Given the description of an element on the screen output the (x, y) to click on. 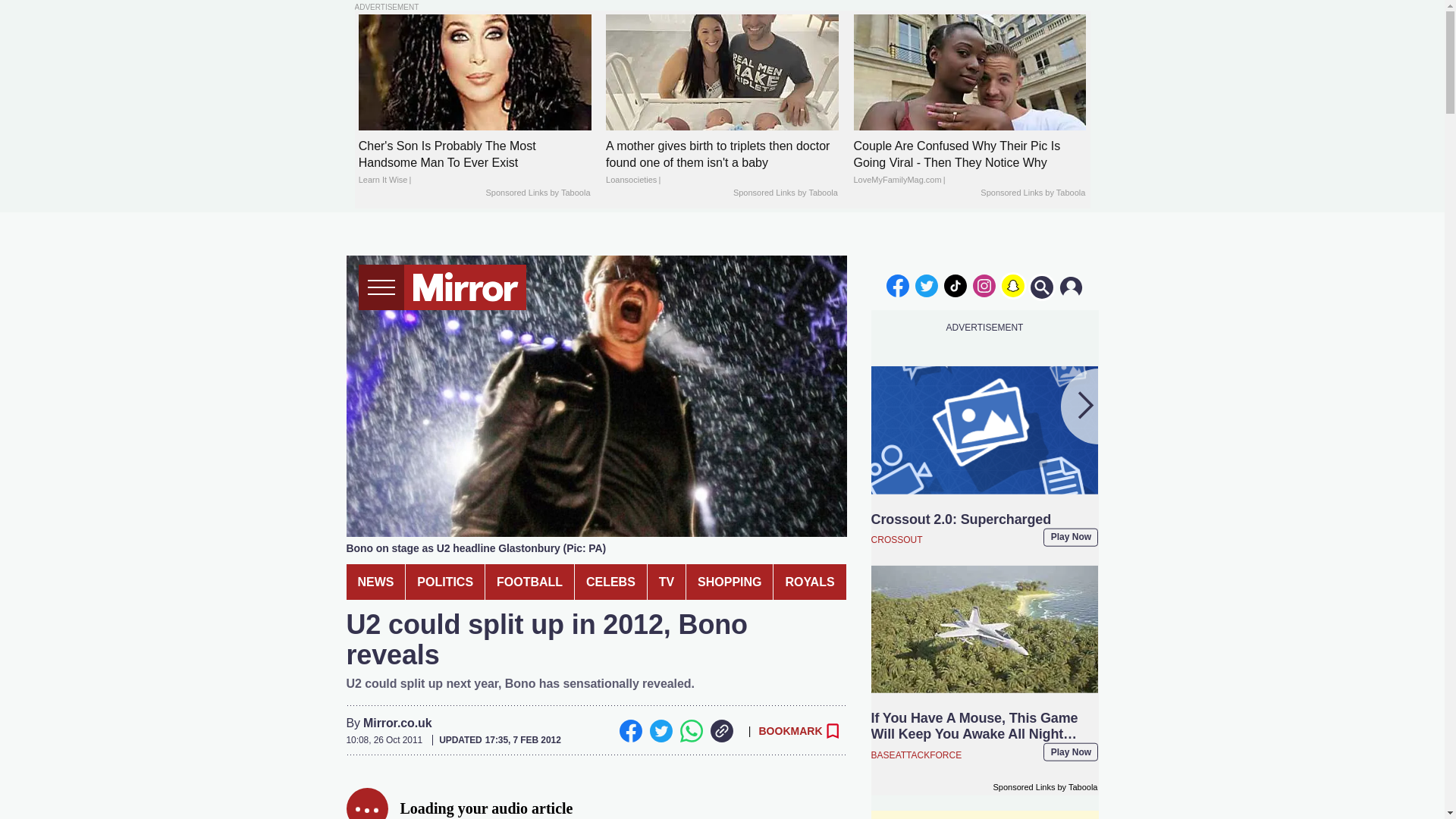
Sponsored Links by Taboola (1031, 193)
Sponsored Links by Taboola (536, 193)
Sponsored Links by Taboola (785, 193)
Cher's Son Is Probably The Most Handsome Man To Ever Exist (474, 163)
instagram (984, 285)
Cher's Son Is Probably The Most Handsome Man To Ever Exist (474, 72)
tiktok (955, 285)
facebook (897, 285)
twitter (926, 285)
